Given the description of an element on the screen output the (x, y) to click on. 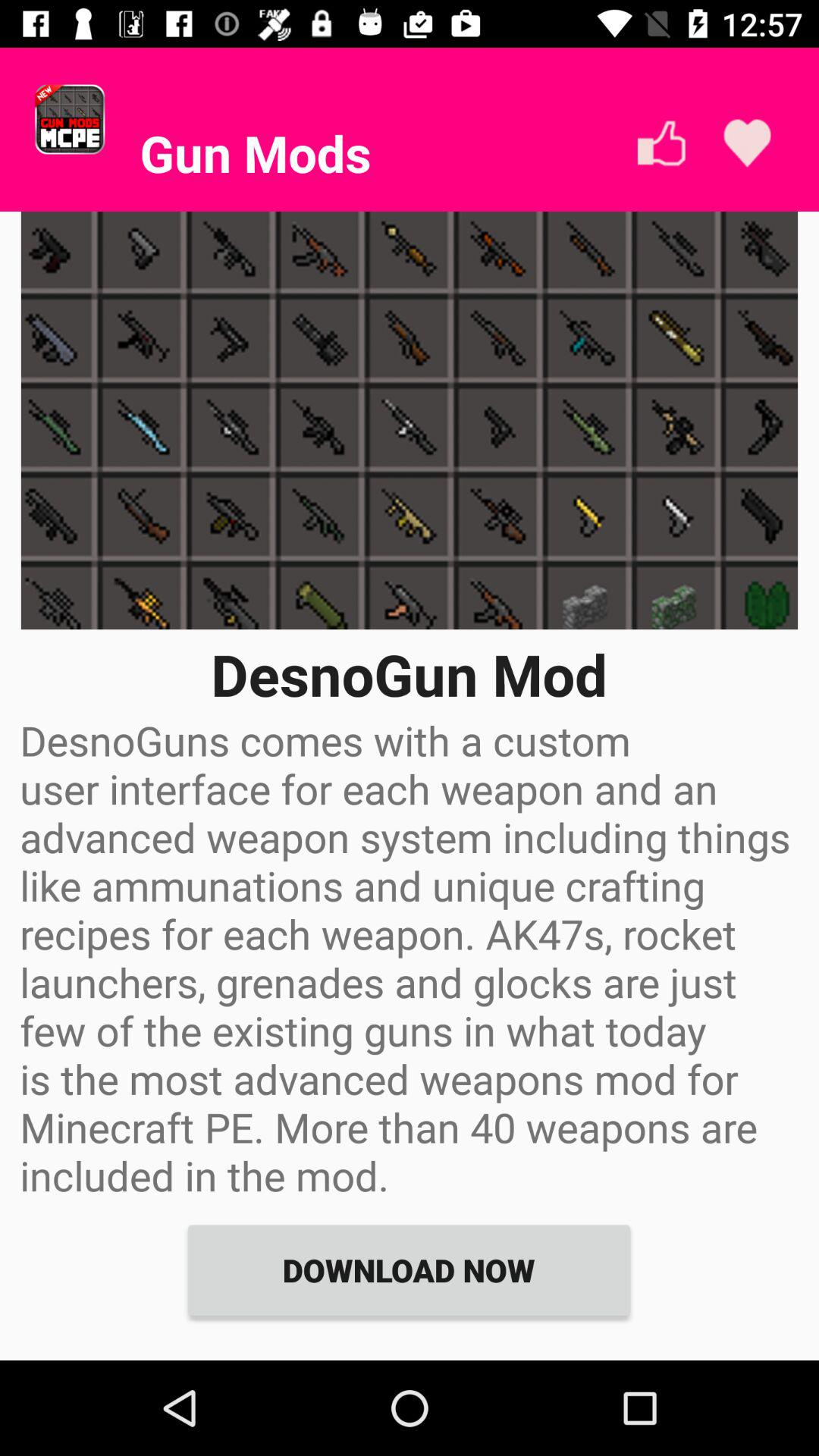
press the icon below the desnoguns comes with (409, 1270)
